Given the description of an element on the screen output the (x, y) to click on. 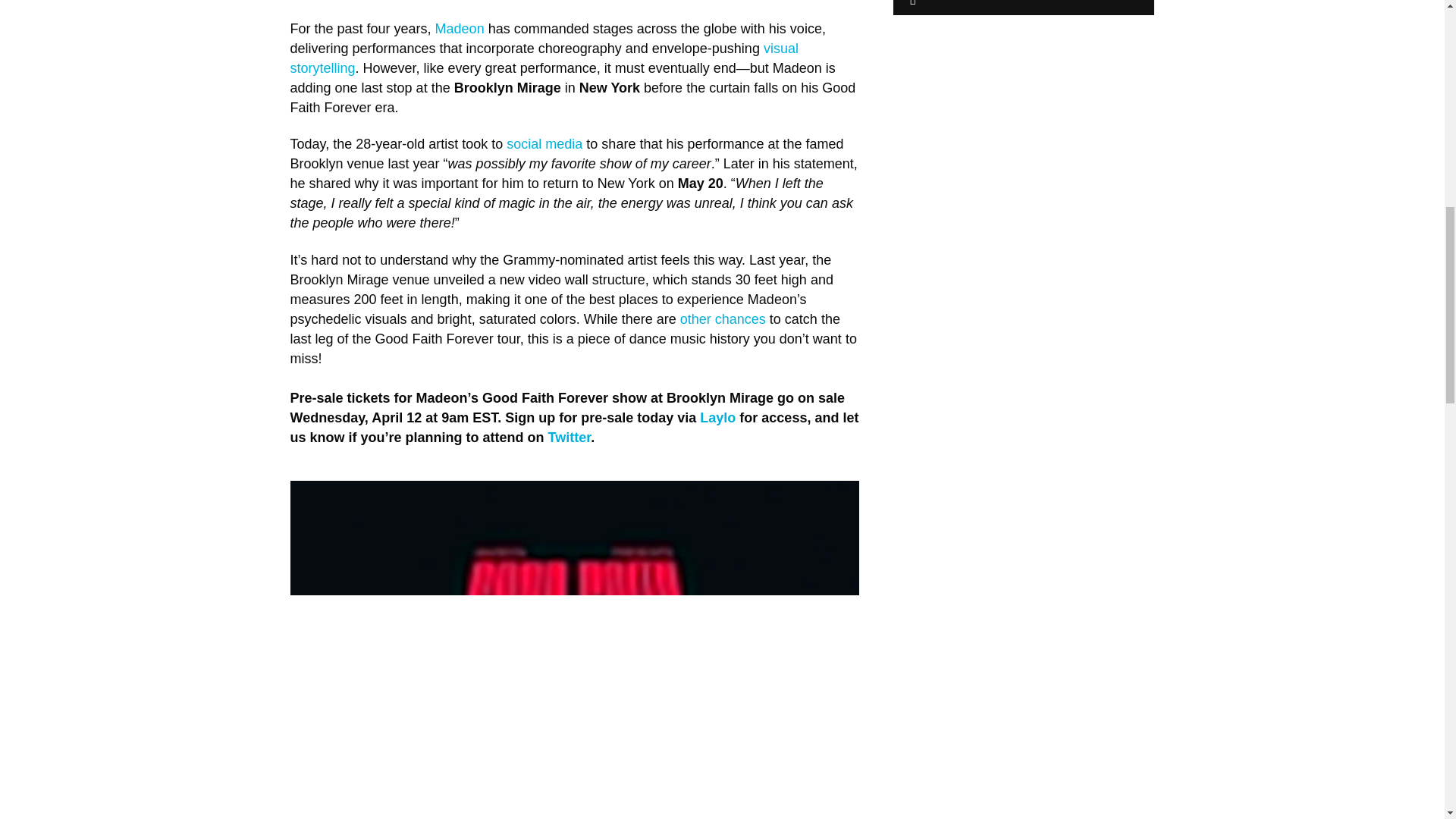
other chances (721, 319)
Twitter (569, 437)
Madeon (461, 28)
Laylo (719, 417)
visual storytelling (543, 58)
social media (544, 143)
